Given the description of an element on the screen output the (x, y) to click on. 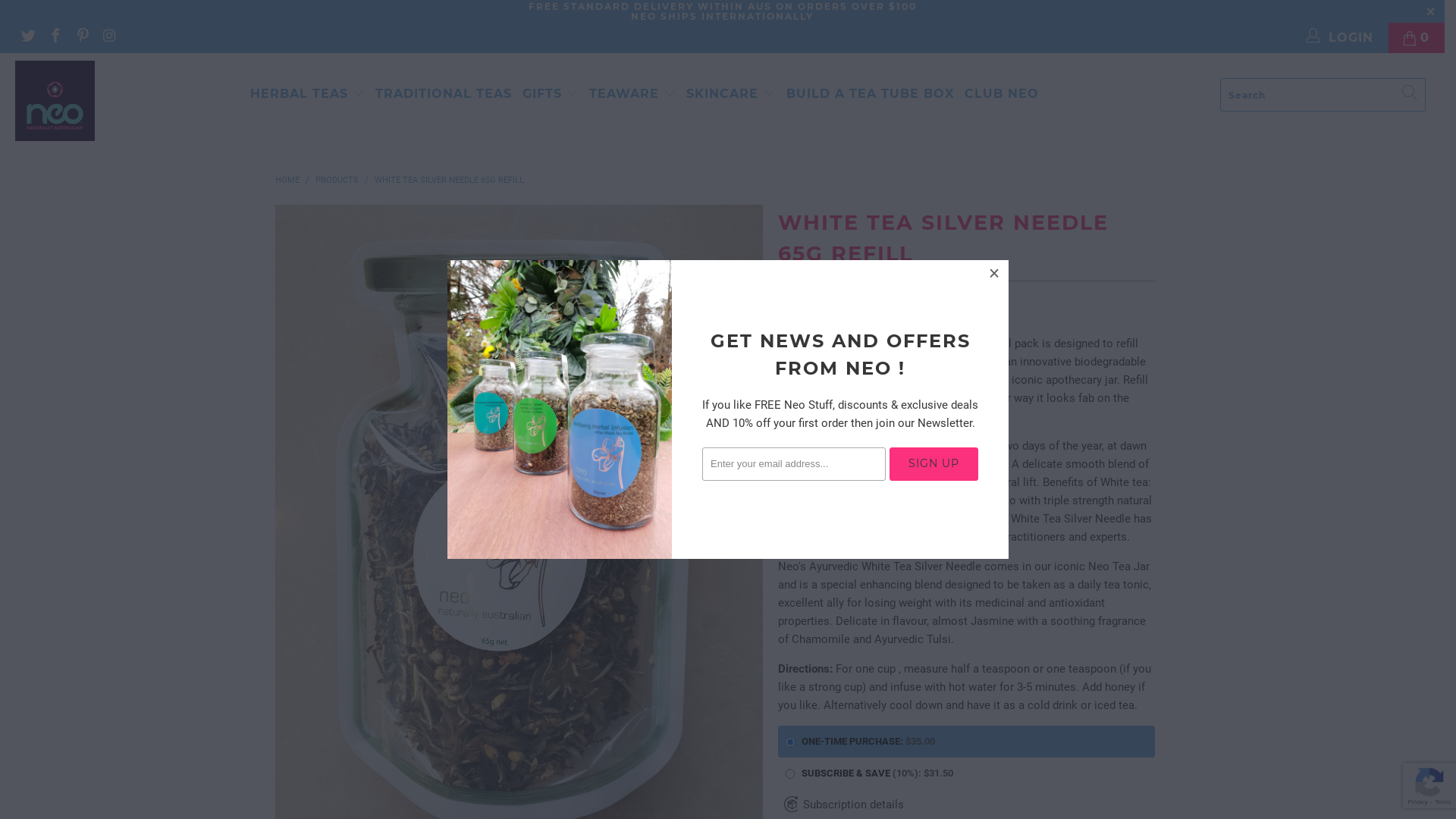
Neo Australia on Twitter Element type: hover (26, 37)
Neo Australia Element type: hover (123, 100)
TEAWARE Element type: text (632, 93)
0 Element type: text (1416, 37)
HOME Element type: text (286, 180)
GIFTS Element type: text (550, 93)
PRODUCTS Element type: text (337, 180)
BUILD A TEA TUBE BOX Element type: text (869, 93)
SKINCARE Element type: text (730, 93)
Neo Australia on Facebook Element type: hover (54, 37)
WHITE TEA SILVER NEEDLE 65G REFILL Element type: text (449, 180)
LOGIN Element type: text (1340, 37)
HERBAL TEAS Element type: text (307, 93)
Sign Up Element type: text (933, 463)
Neo Australia on Instagram Element type: hover (108, 37)
Neo Australia on Pinterest Element type: hover (81, 37)
TRADITIONAL TEAS Element type: text (443, 93)
Close Element type: hover (994, 273)
FREE STANDARD DELIVERY WITHIN AUS ON ORDERS OVER $100 Element type: text (721, 6)
CLUB NEO Element type: text (1001, 93)
